Given the description of an element on the screen output the (x, y) to click on. 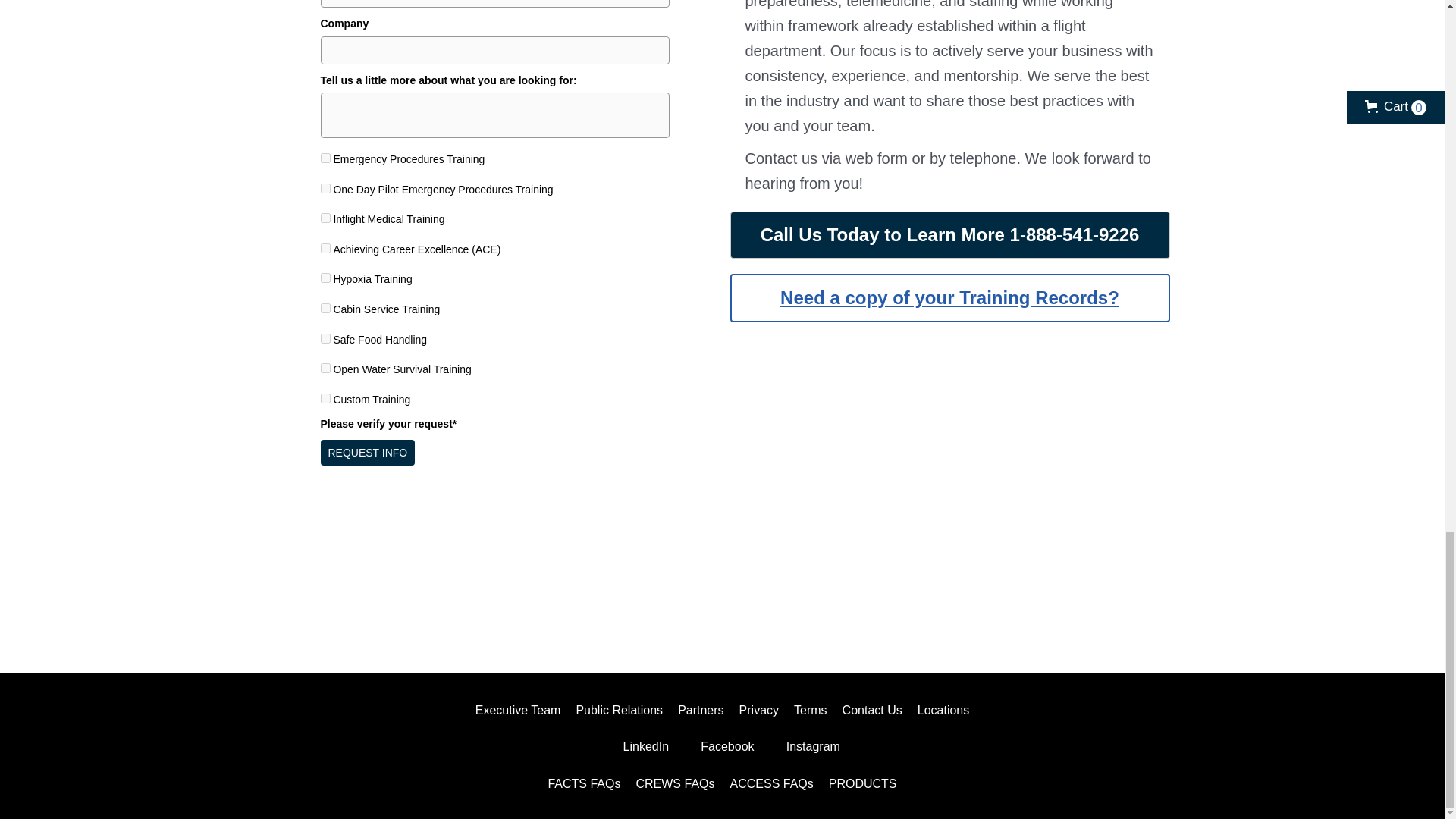
Need a copy of your Training Records? (949, 297)
isbao (380, 595)
One Day Pilot Emergency Procedures Training (325, 188)
Inflight Medical Training (325, 217)
Privacy (759, 709)
Terms (810, 709)
REQUEST INFO (367, 452)
fsf (608, 595)
Call Us Today to Learn More 1-888-541-9226 (949, 234)
Cabin Service Training (325, 307)
air-charter-safety-foundation (835, 596)
Safe Food Handling (325, 338)
Open Water Survival Training (325, 368)
Executive Team (518, 709)
nbaa (1062, 595)
